Given the description of an element on the screen output the (x, y) to click on. 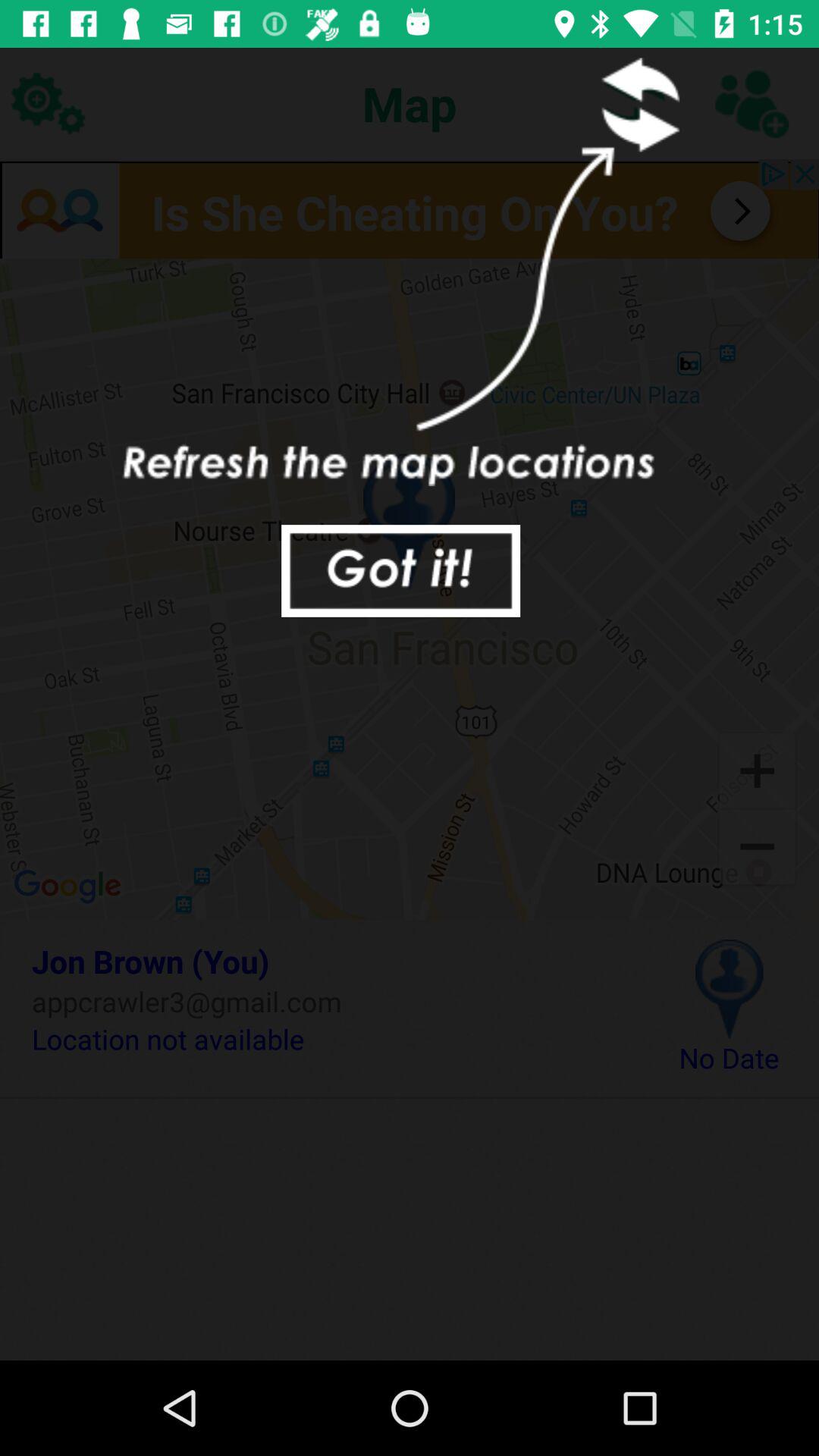
advertisement (409, 208)
